Given the description of an element on the screen output the (x, y) to click on. 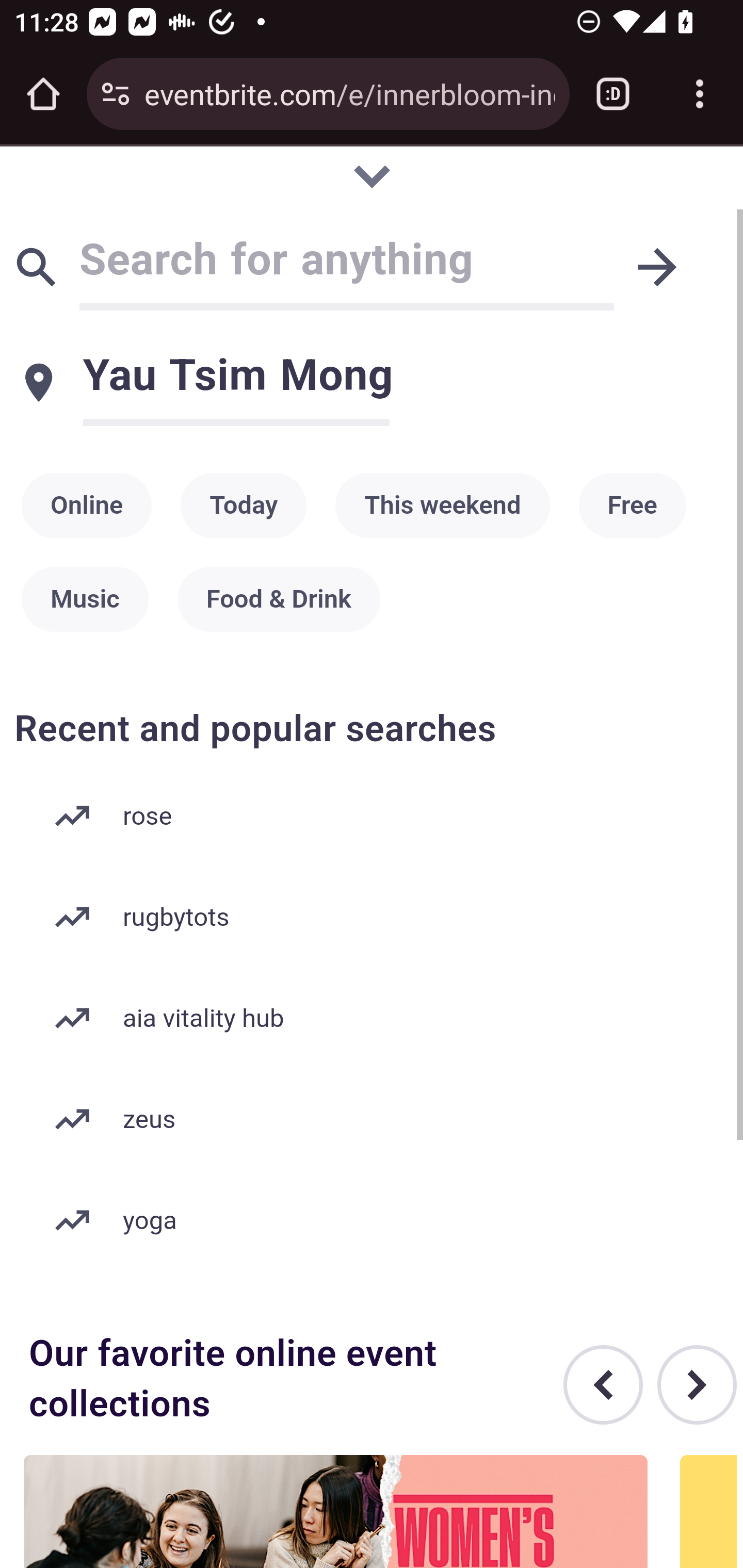
Open the home page (43, 93)
Connection is secure (115, 93)
Switch or close tabs (612, 93)
Customize and control Google Chrome (699, 93)
Run Search (657, 267)
Yau Tsim Mong (407, 374)
Online (87, 506)
Today (243, 506)
This weekend (441, 506)
Free (633, 506)
Music (85, 599)
Food & Drink (278, 599)
rose (372, 816)
rugbytots (372, 918)
aia vitality hub (372, 1018)
zeus (372, 1119)
yoga (372, 1220)
Scroll carousel left (603, 1384)
Scroll carousel right (697, 1384)
